Given the description of an element on the screen output the (x, y) to click on. 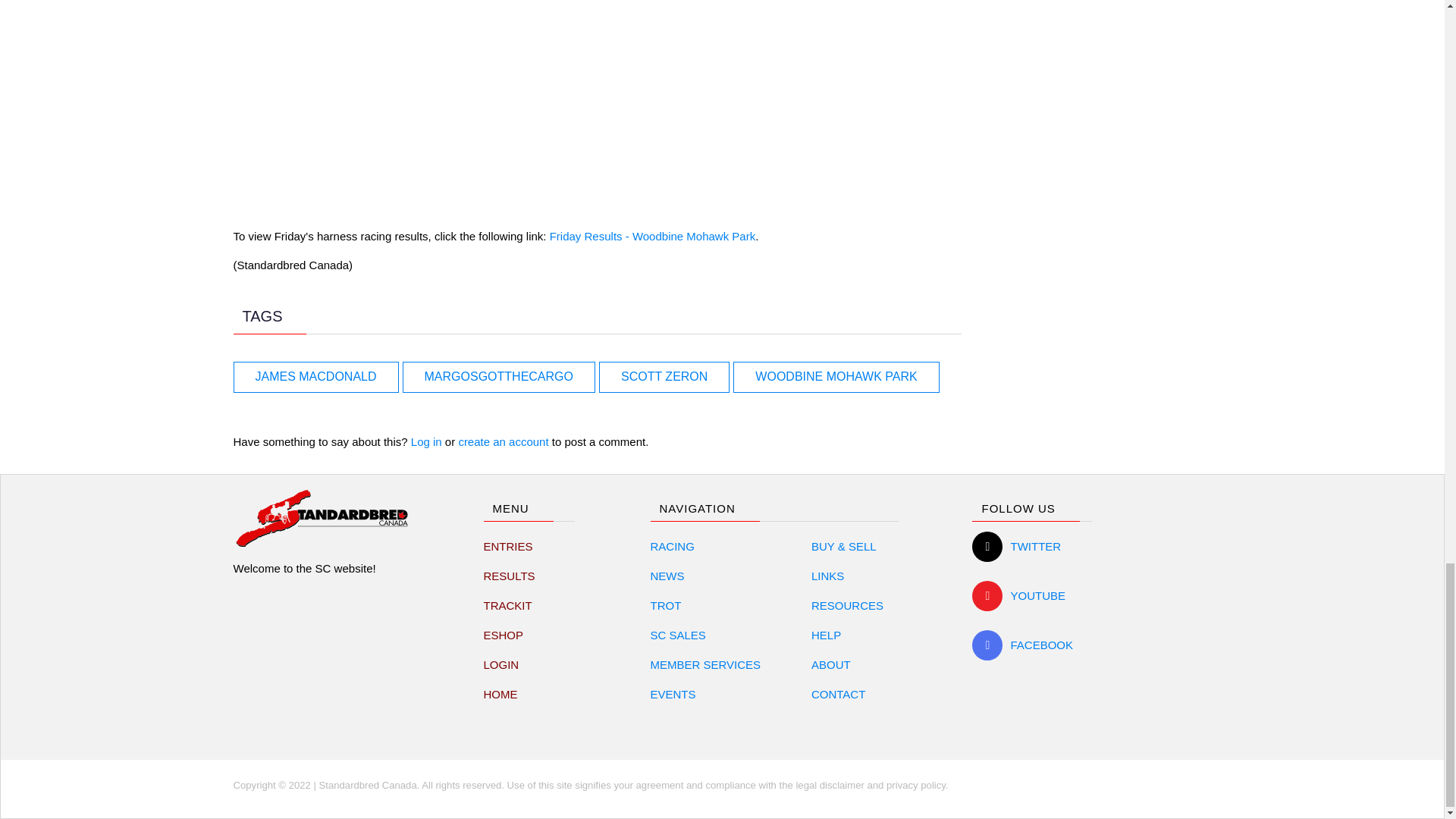
Homepage (500, 694)
